Given the description of an element on the screen output the (x, y) to click on. 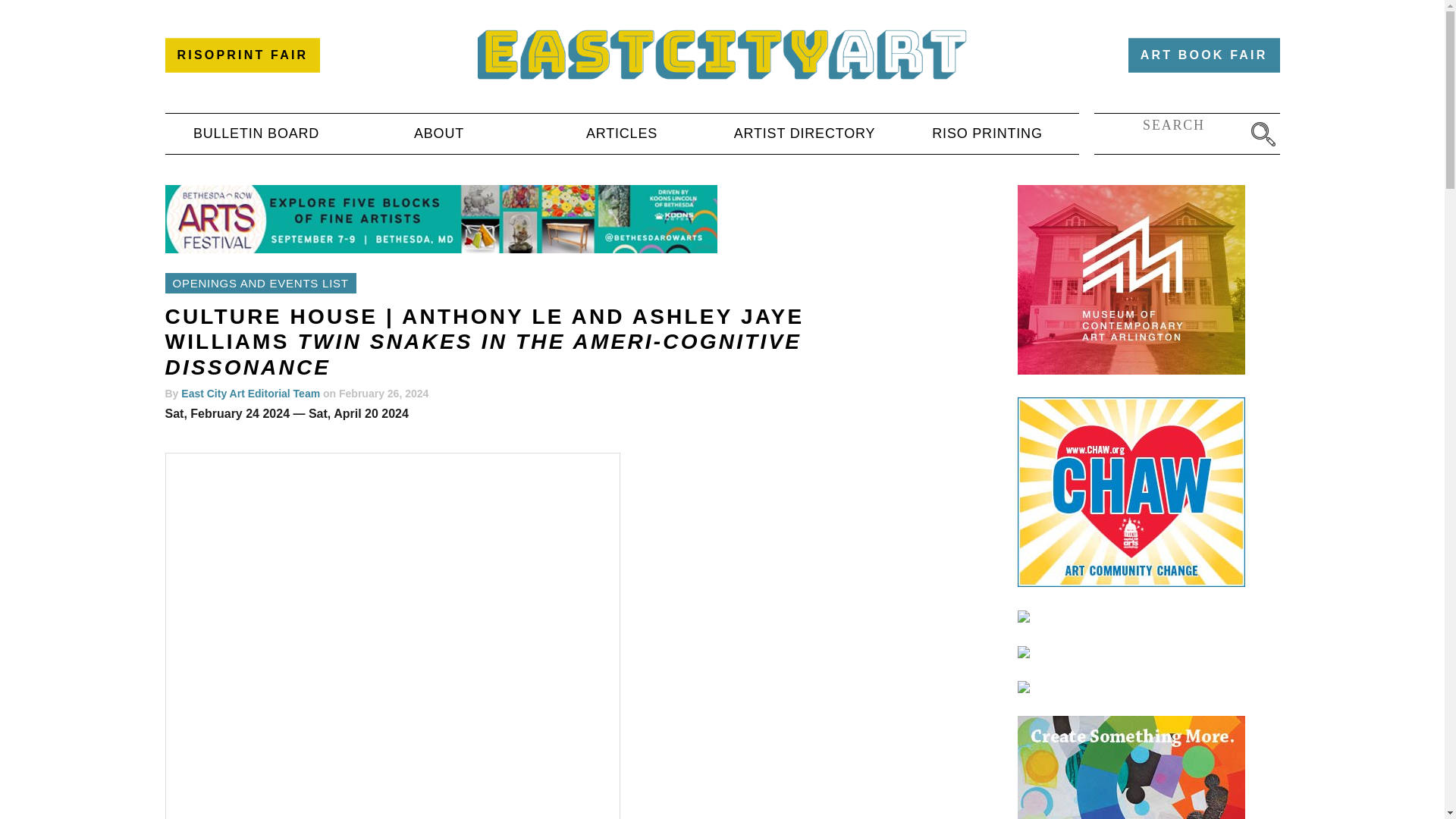
East City Art Editorial Team (250, 393)
OPENINGS AND EVENTS LIST (260, 282)
RISOPRINT FAIR (242, 54)
RISO PRINTING (987, 133)
BULLETIN BOARD (256, 133)
ABOUT (438, 133)
ART BOOK FAIR (1203, 54)
ARTICLES (622, 133)
ARTIST DIRECTORY (804, 133)
